Given the description of an element on the screen output the (x, y) to click on. 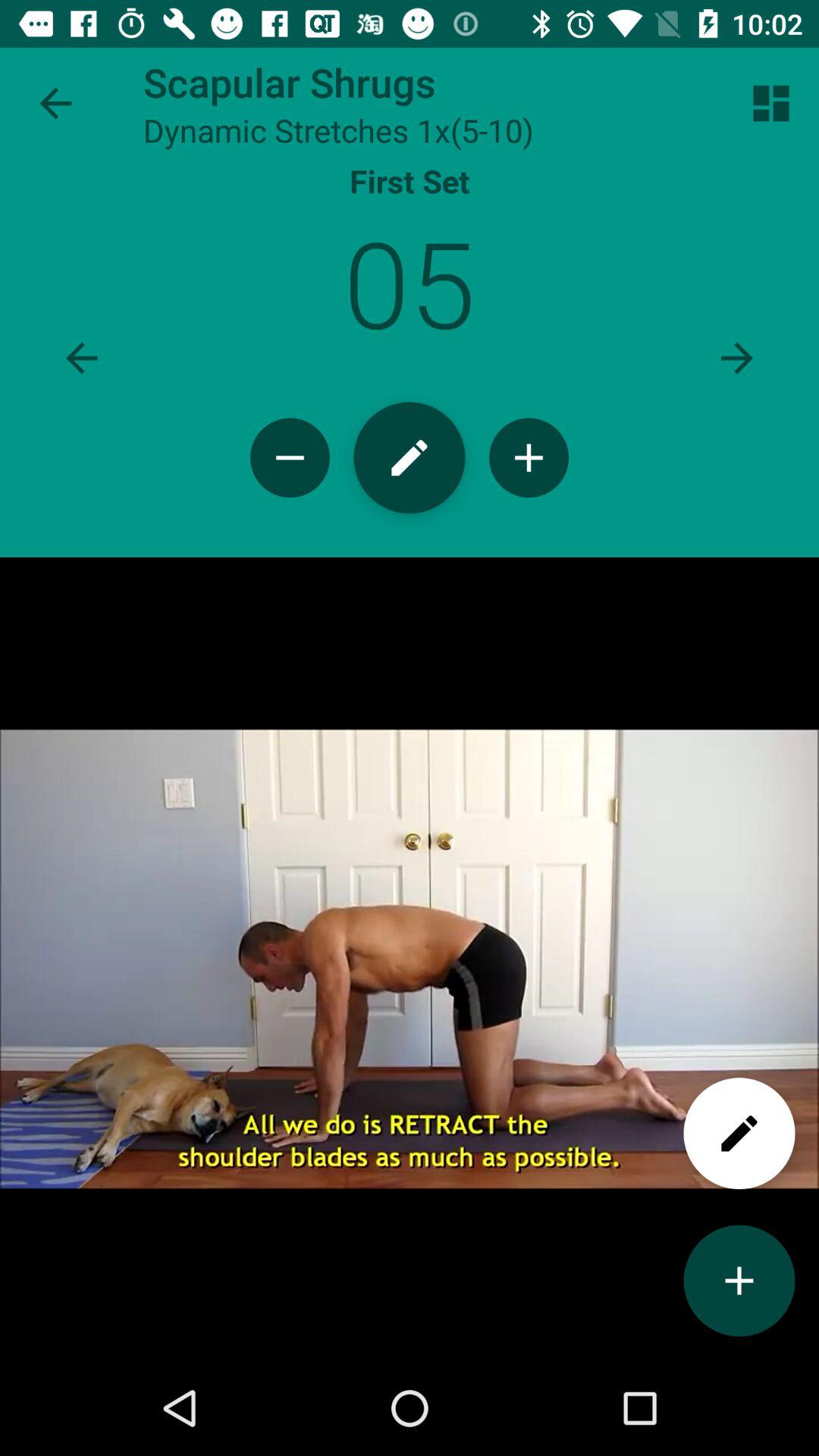
toggle next (737, 358)
